Given the description of an element on the screen output the (x, y) to click on. 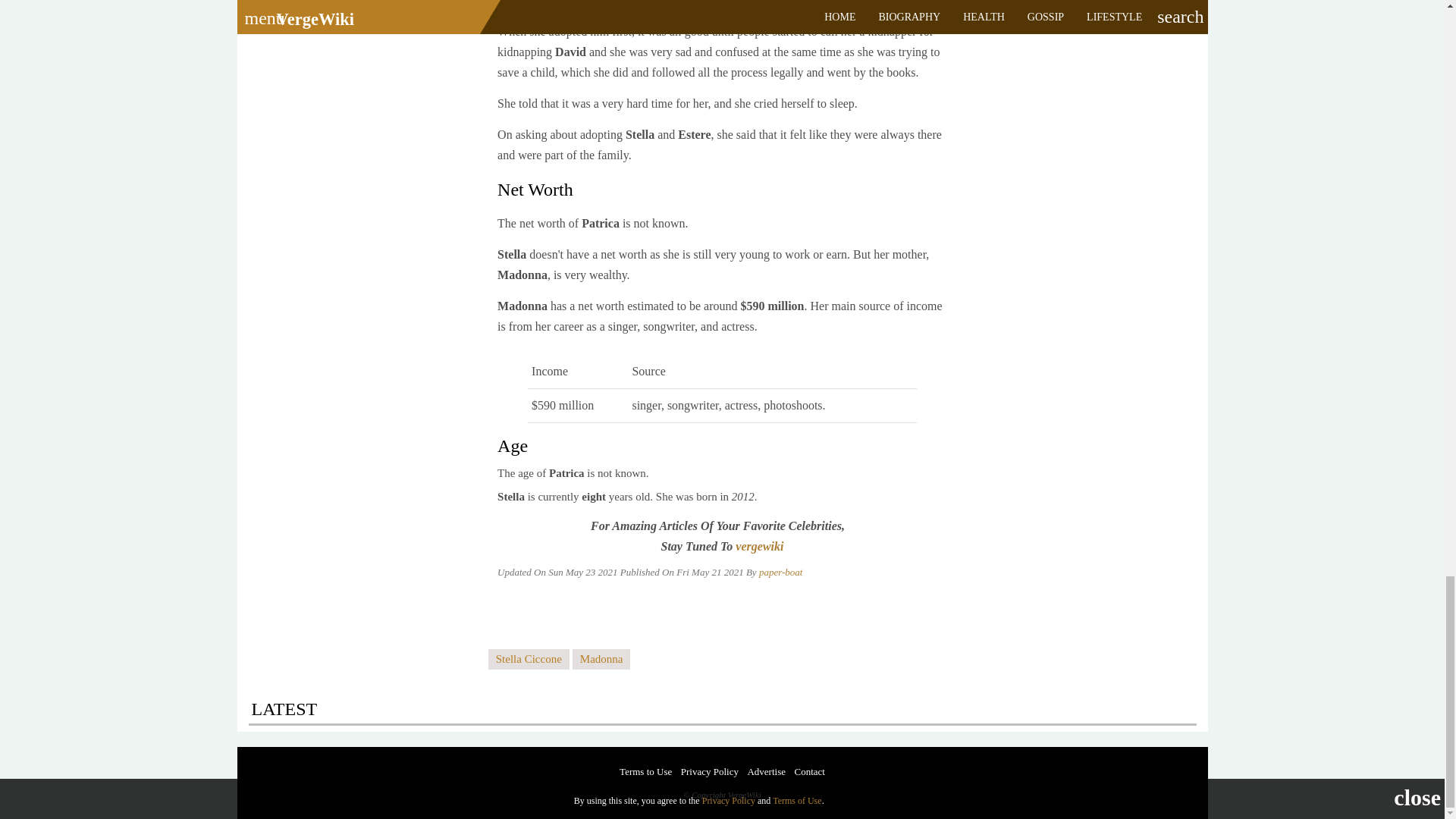
vergewiki (759, 545)
Stella Ciccone (528, 659)
Madonna (601, 659)
paper-boat (780, 572)
David Banda (712, 3)
